Given the description of an element on the screen output the (x, y) to click on. 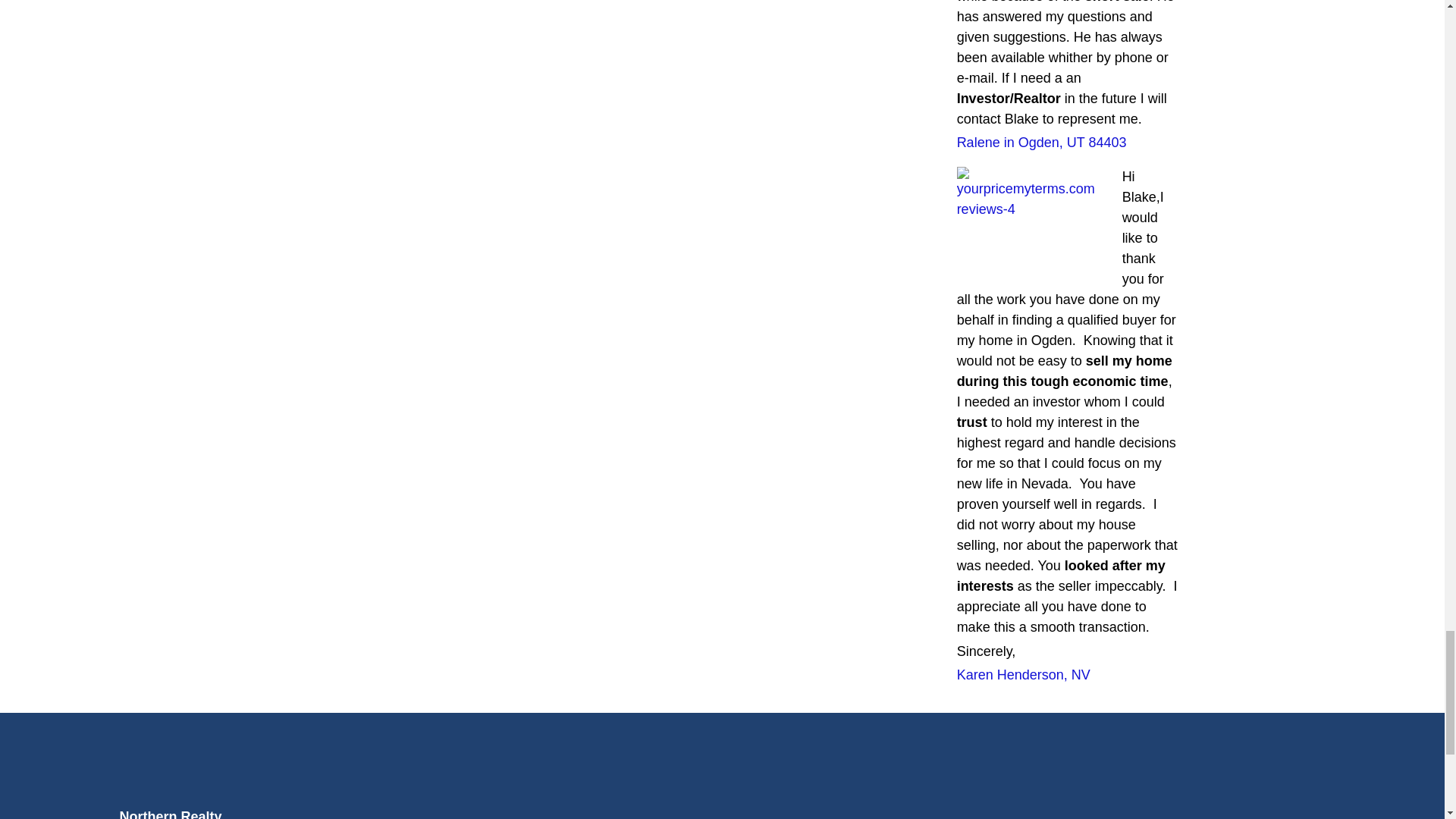
Ralene in Ogden, UT 84403 (1041, 142)
